Given the description of an element on the screen output the (x, y) to click on. 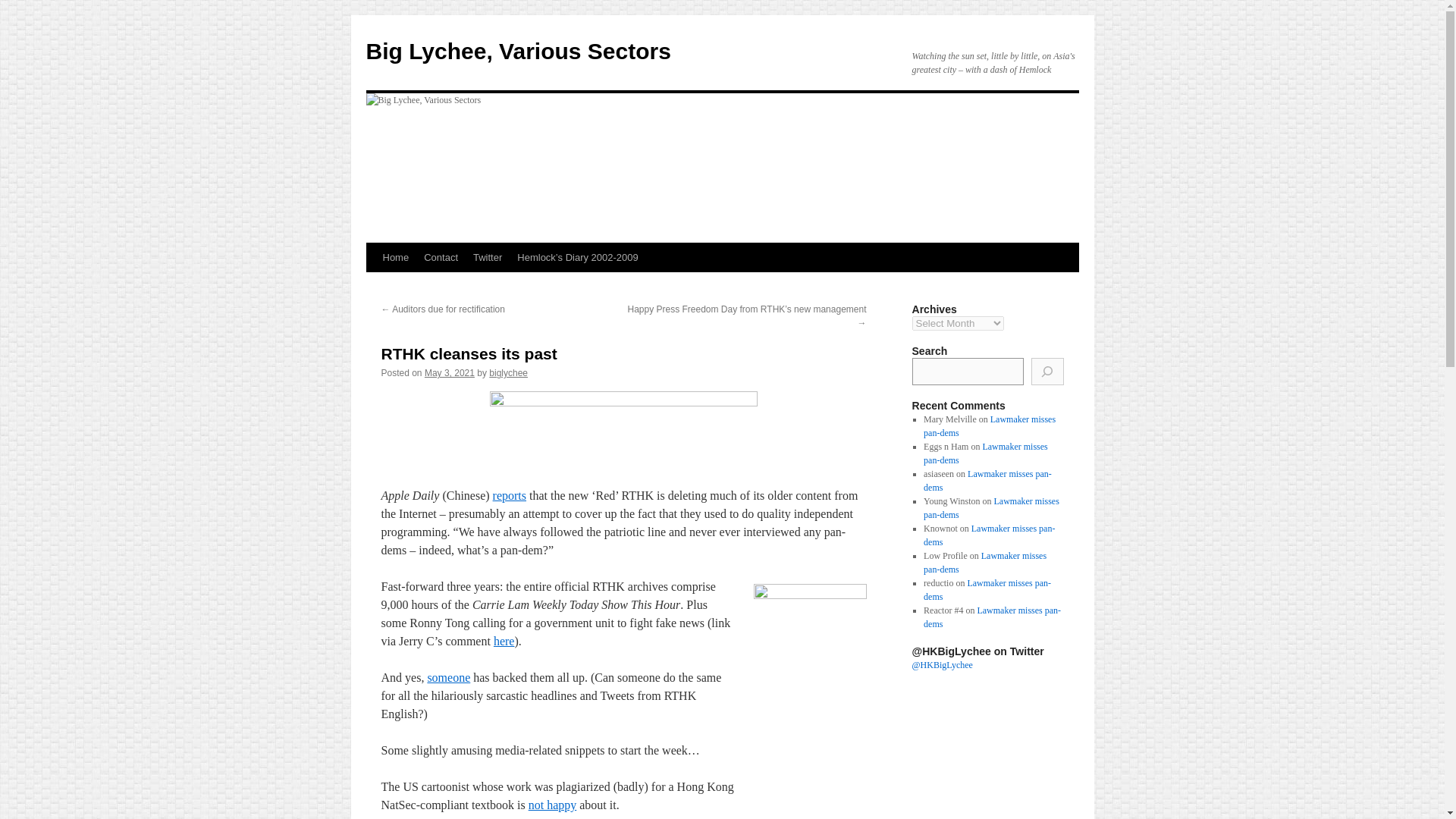
Home (395, 257)
biglychee (508, 372)
someone (448, 676)
Lawmaker misses pan-dems (987, 589)
here (504, 640)
Lawmaker misses pan-dems (992, 617)
May 3, 2021 (449, 372)
Twitter (487, 257)
Lawmaker misses pan-dems (987, 480)
reports (509, 495)
Lawmaker misses pan-dems (991, 508)
Contact (440, 257)
Lawmaker misses pan-dems (988, 535)
Skip to content (372, 285)
not happy (552, 804)
